Given the description of an element on the screen output the (x, y) to click on. 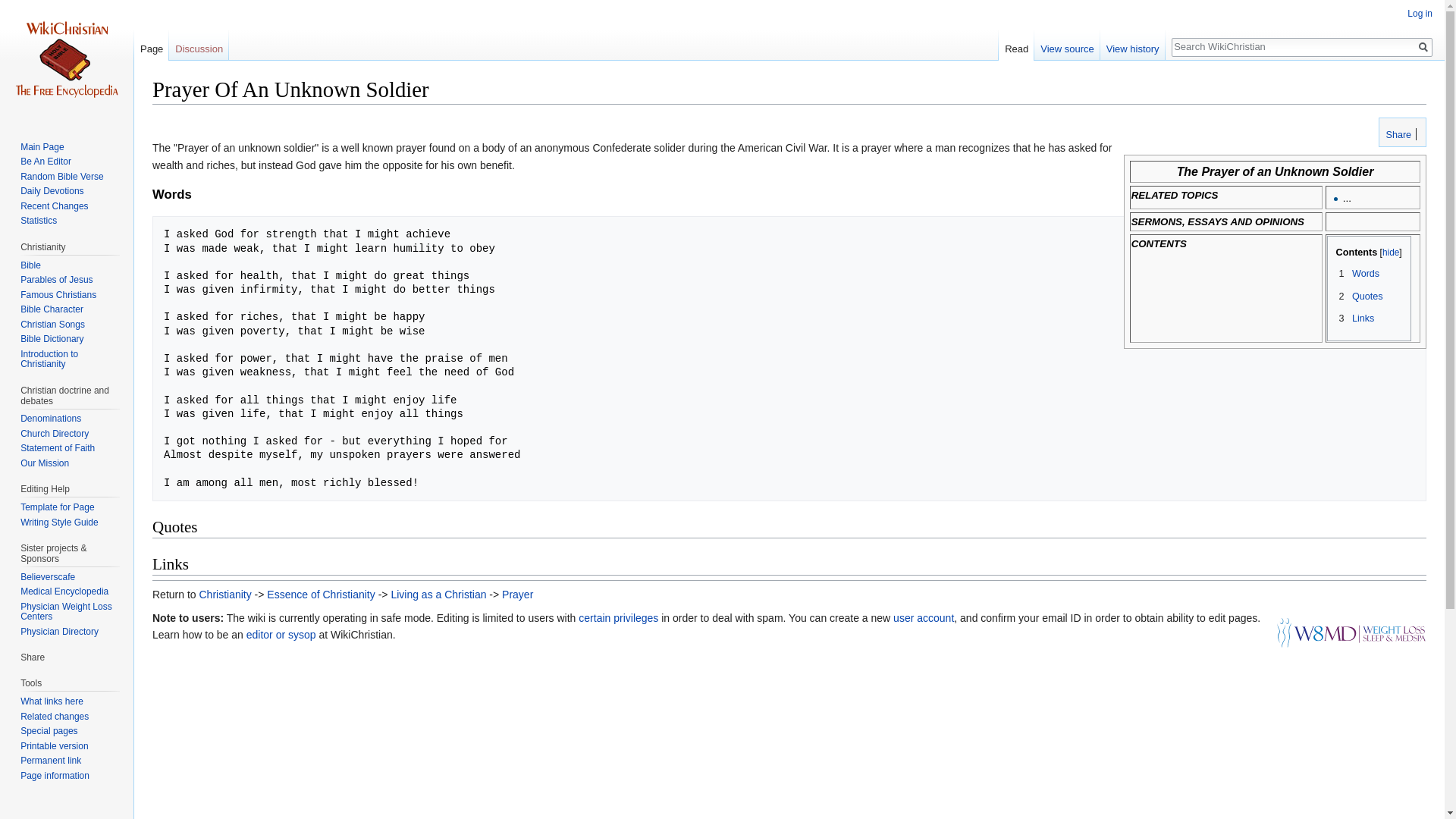
Physician Directory (59, 631)
What links here (51, 701)
Essence of Christianity (320, 594)
Go to a page with this exact name if it exists (1423, 46)
WikiChristian:Administrators (618, 616)
Go (1423, 46)
Bible (30, 265)
user account (923, 616)
Template for Page (57, 507)
Prayer (517, 594)
Prayer (517, 594)
Random Bible Verse (61, 176)
Church Directory (54, 433)
View history (1133, 45)
